Given the description of an element on the screen output the (x, y) to click on. 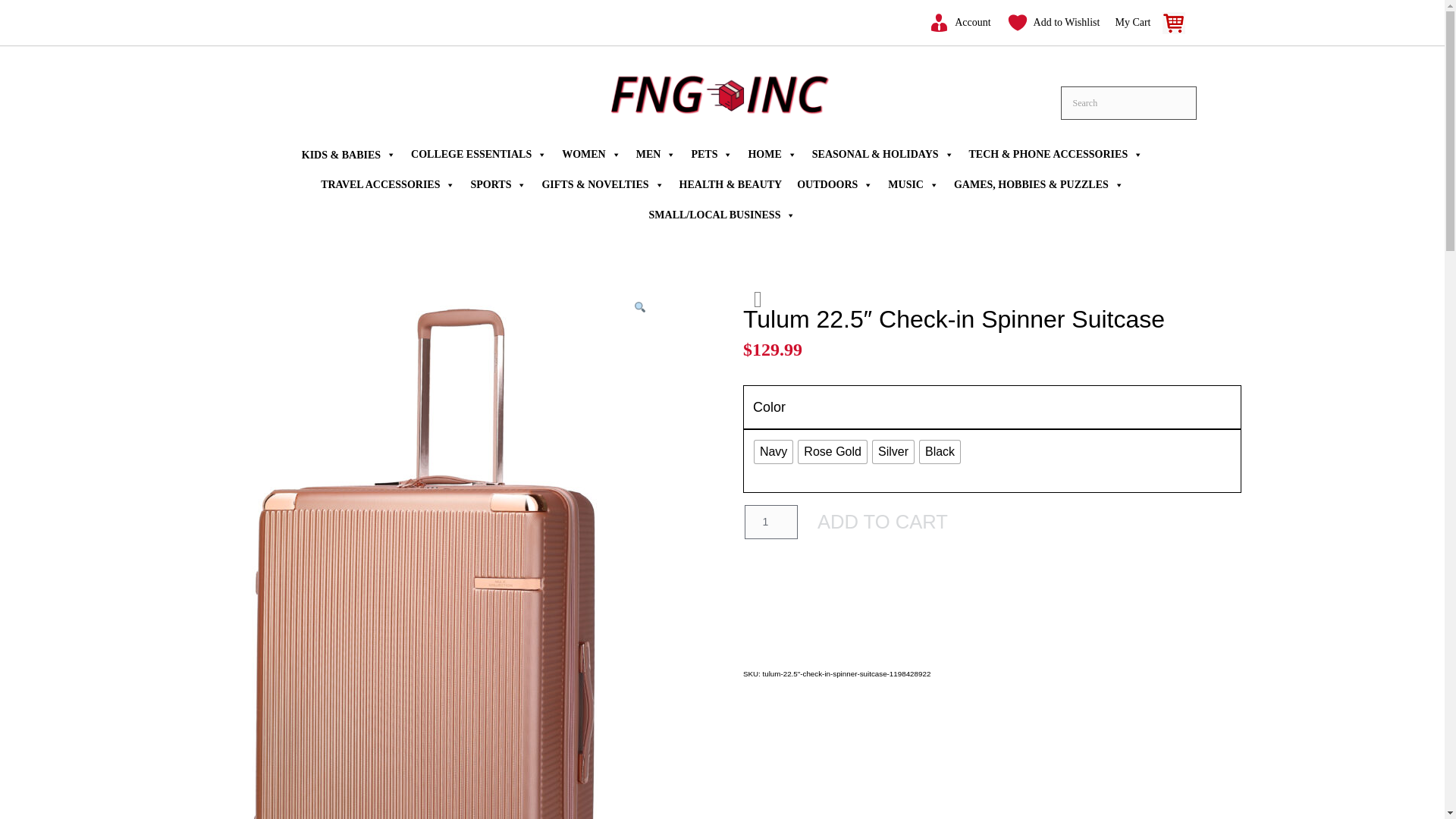
Add to Wishlist (1053, 22)
Rose Gold (831, 451)
Silver (893, 451)
PayPal Message 1 (991, 547)
1 (770, 522)
Account (958, 22)
Black (939, 451)
Navy (773, 451)
My Cart (1150, 22)
PayPal (991, 592)
